Given the description of an element on the screen output the (x, y) to click on. 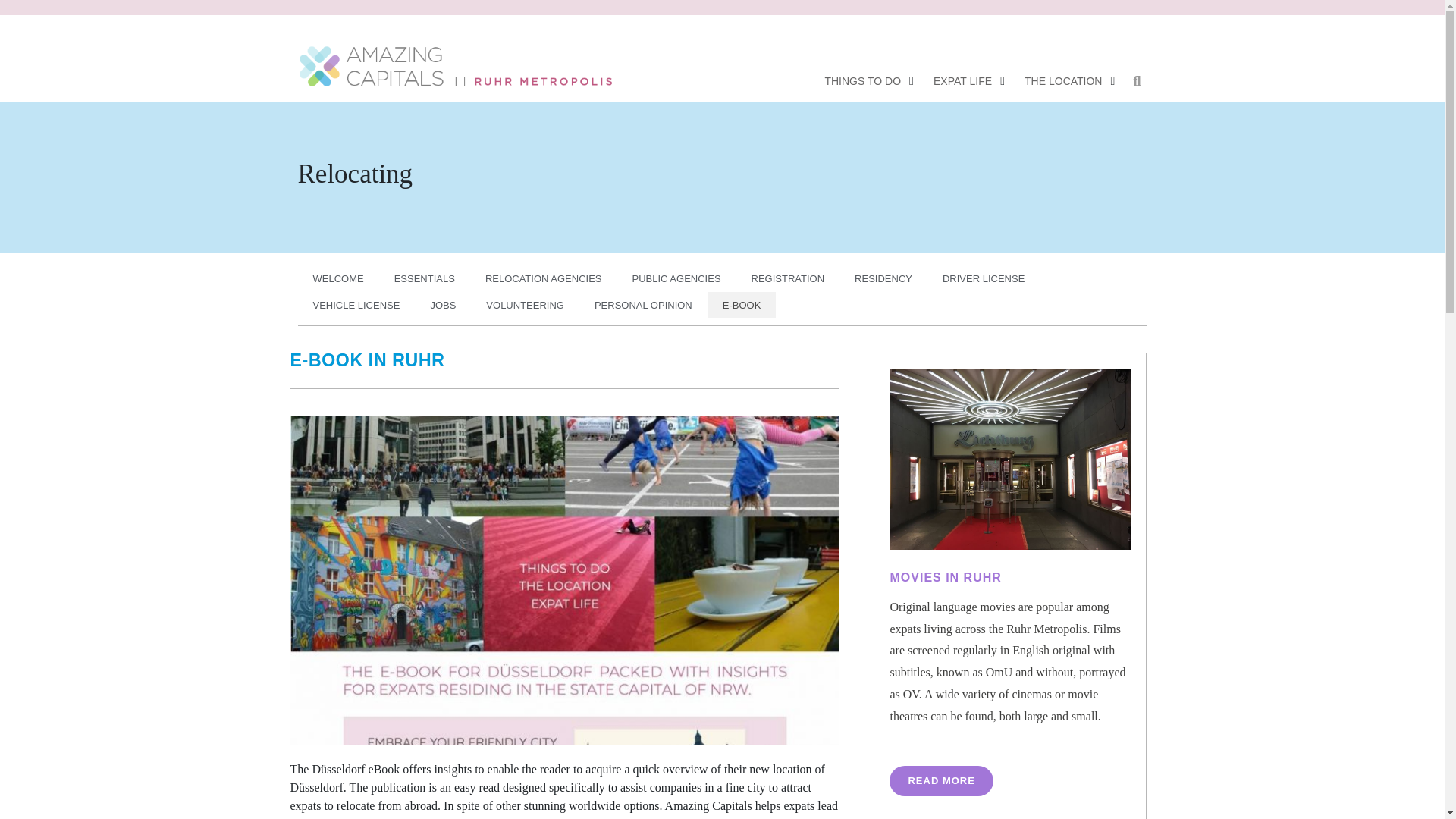
THINGS TO DO (862, 80)
EXPAT LIFE (962, 80)
THE LOCATION (1063, 80)
